Given the description of an element on the screen output the (x, y) to click on. 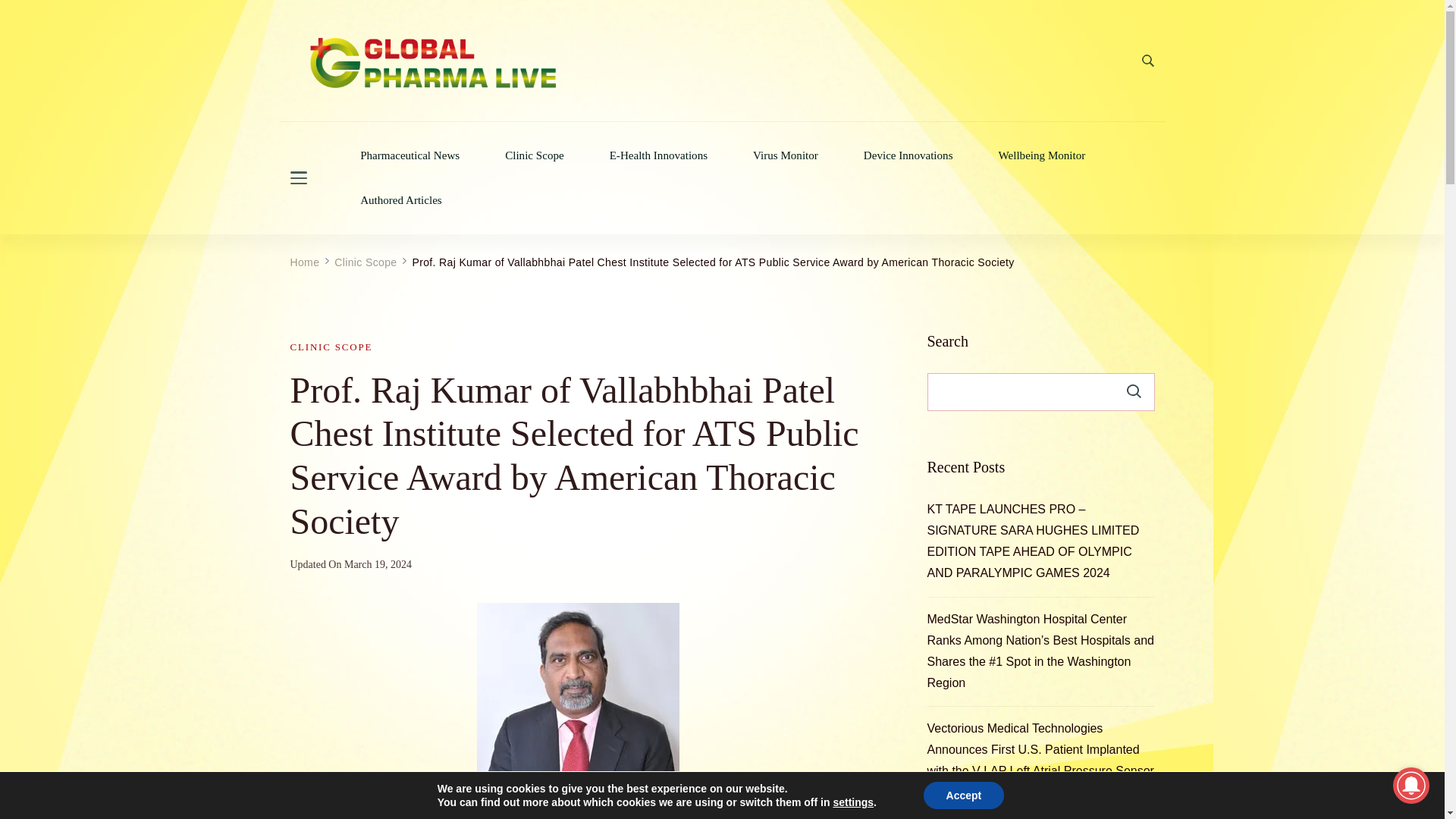
Pharmaceutical News (409, 155)
Global Pharma Live (381, 121)
Clinic Scope (534, 155)
E-Health Innovations (658, 155)
Authored Articles (400, 200)
Wellbeing Monitor (1042, 155)
Device Innovations (908, 155)
Virus Monitor (785, 155)
